Given the description of an element on the screen output the (x, y) to click on. 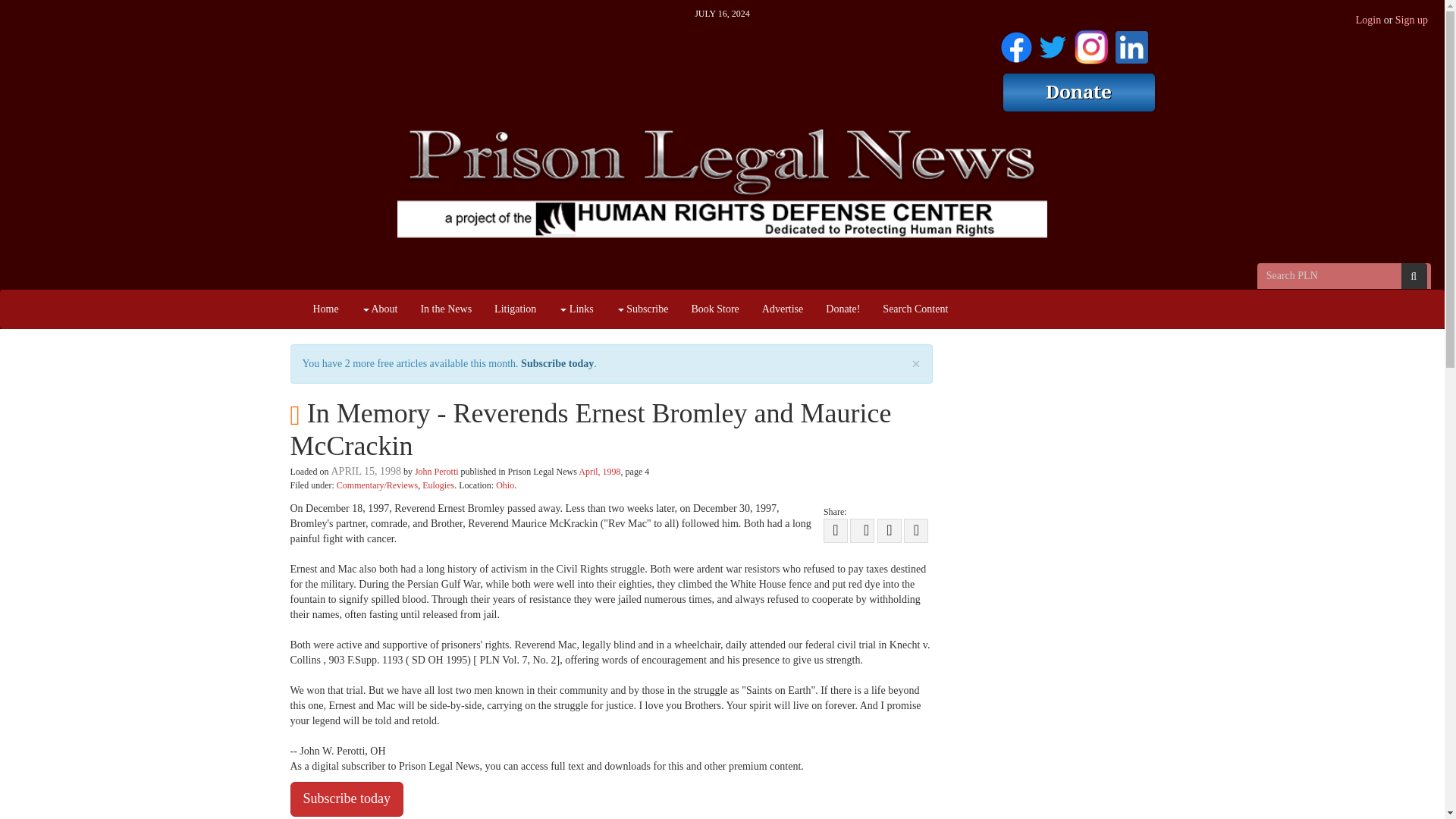
HRDC Instagram Page (1091, 44)
John Perotti (436, 471)
Search Content (914, 309)
April, 1998 (599, 471)
Sign up (1411, 19)
Advertise (782, 309)
Search (1413, 275)
Litigation (515, 309)
Login (1367, 19)
Donate! (841, 309)
In the News (446, 309)
About (379, 309)
Subscribe today (557, 363)
Subscribe (642, 309)
Prison Legal News FaceBook Page (1016, 44)
